Given the description of an element on the screen output the (x, y) to click on. 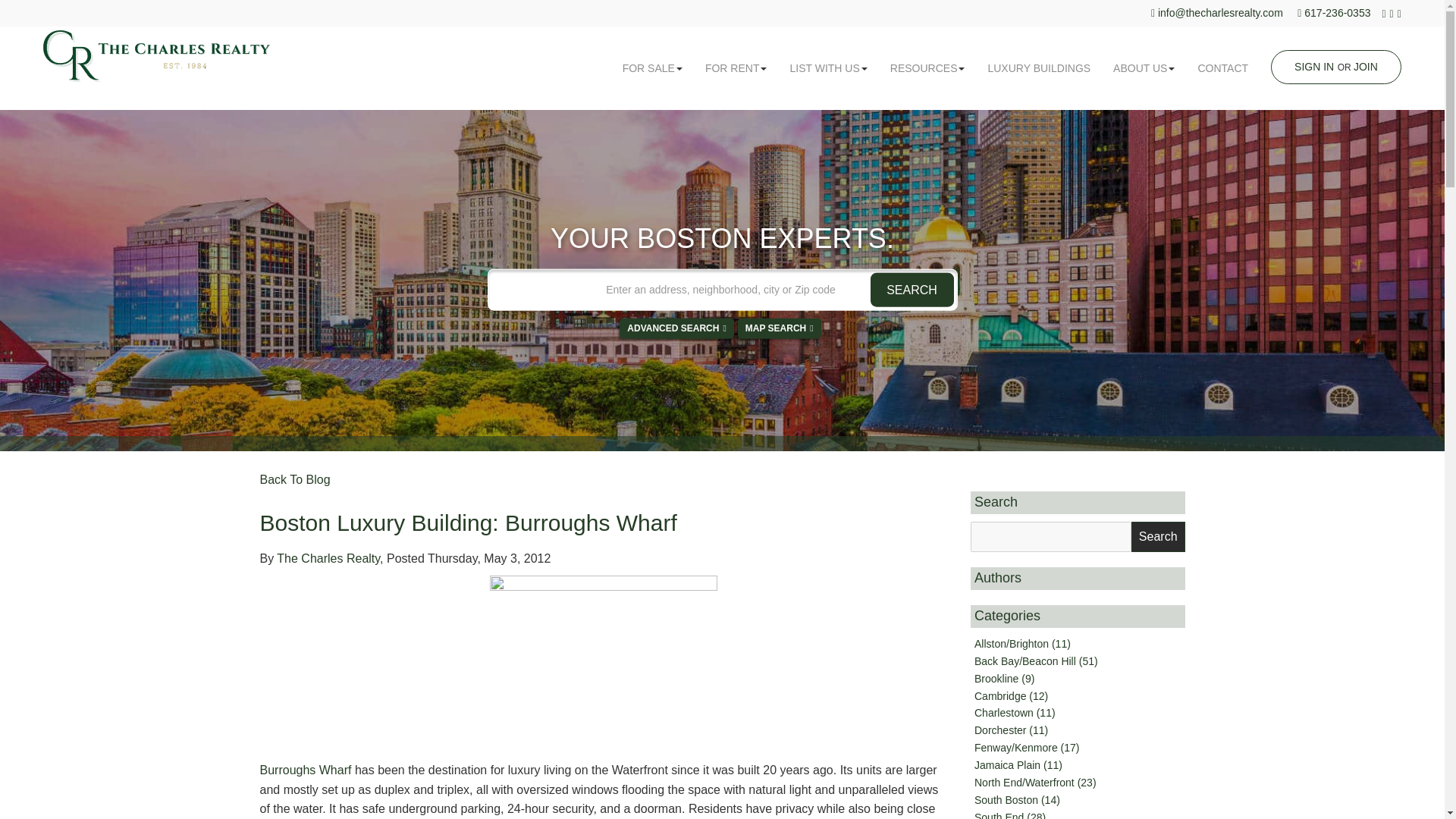
LIST WITH US (827, 67)
Search (1158, 536)
JOIN (1365, 66)
RESOURCES (927, 67)
617-236-0353 (1339, 12)
FOR RENT (736, 67)
SIGN IN (1313, 66)
FOR SALE (652, 67)
